Given the description of an element on the screen output the (x, y) to click on. 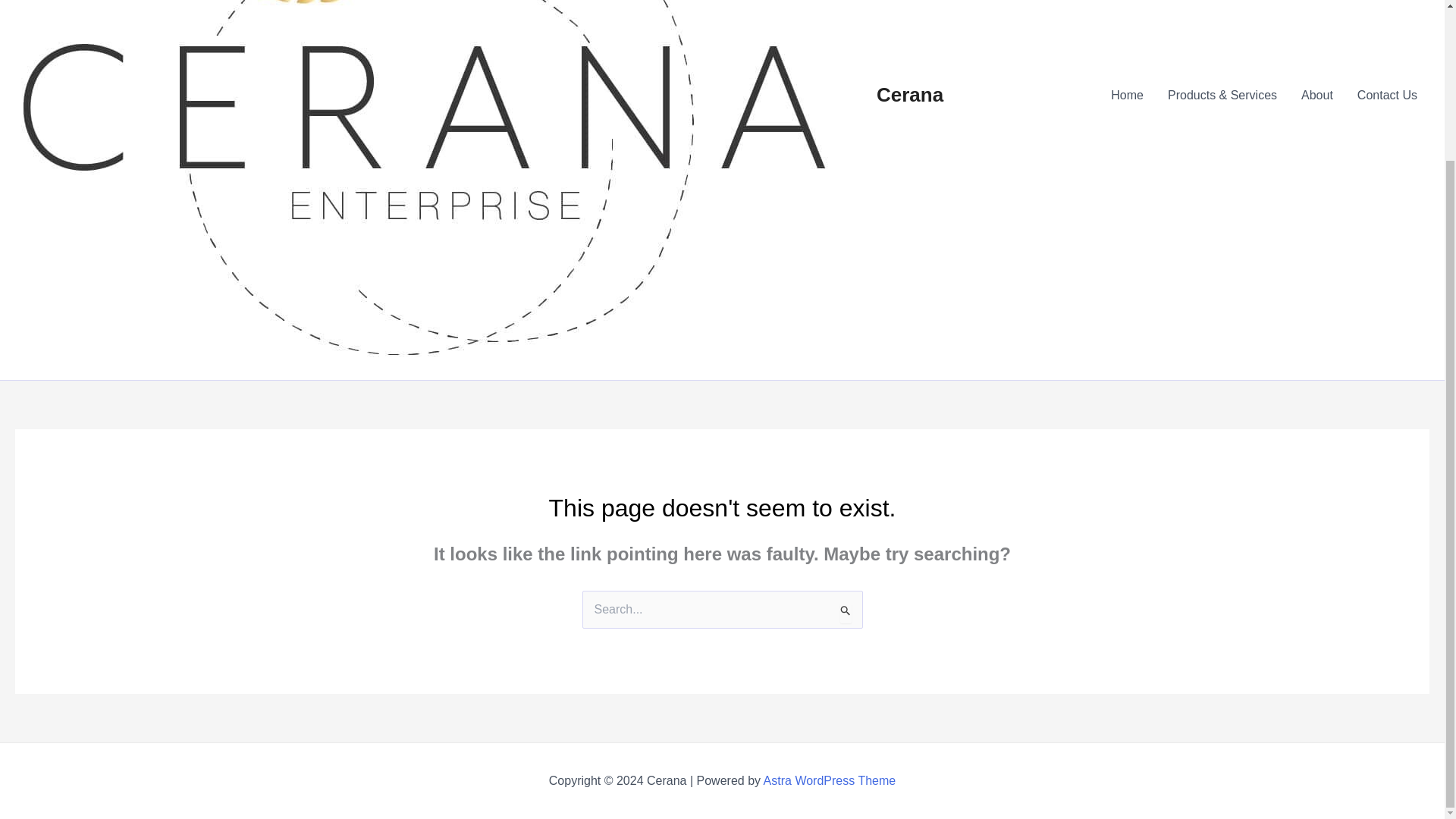
About (1316, 95)
Home (1127, 95)
Cerana (909, 94)
Astra WordPress Theme (829, 780)
Contact Us (1387, 95)
